Given the description of an element on the screen output the (x, y) to click on. 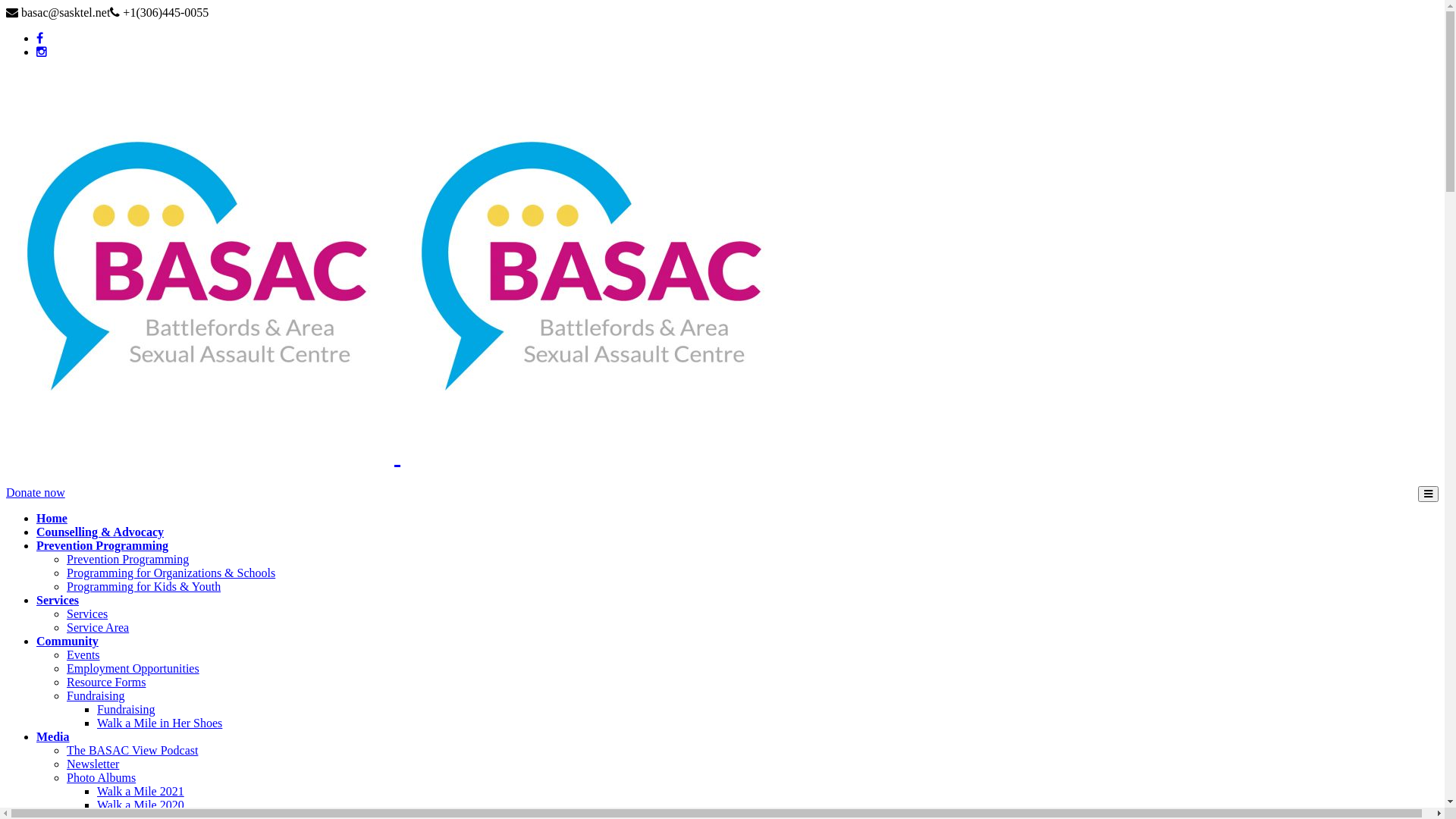
Walk a Mile in Her Shoes Element type: text (159, 722)
Programming for Kids & Youth Element type: text (143, 586)
Instagram Element type: hover (41, 51)
Counselling & Advocacy Element type: text (99, 531)
Resource Forms Element type: text (105, 681)
Community Element type: text (67, 640)
Services Element type: text (57, 599)
Newsletter Element type: text (92, 763)
Service Area Element type: text (97, 627)
BASAC | Battlefords & Area Sexual Assault Centre Element type: hover (397, 454)
Media Element type: text (52, 736)
Employment Opportunities Element type: text (132, 668)
Programming for Organizations & Schools Element type: text (170, 572)
Services Element type: text (86, 613)
The BASAC View Podcast Element type: text (131, 749)
Prevention Programming Element type: text (127, 558)
Fundraising Element type: text (95, 695)
Walk a Mile 2020 Element type: text (140, 804)
Walk a Mile 2021 Element type: text (140, 790)
Fundraising Element type: text (125, 708)
Home Element type: text (51, 517)
Prevention Programming Element type: text (102, 545)
Donate now Element type: text (35, 492)
Events Element type: text (83, 654)
Photo Albums Element type: text (100, 777)
Facebook Element type: hover (39, 37)
